Given the description of an element on the screen output the (x, y) to click on. 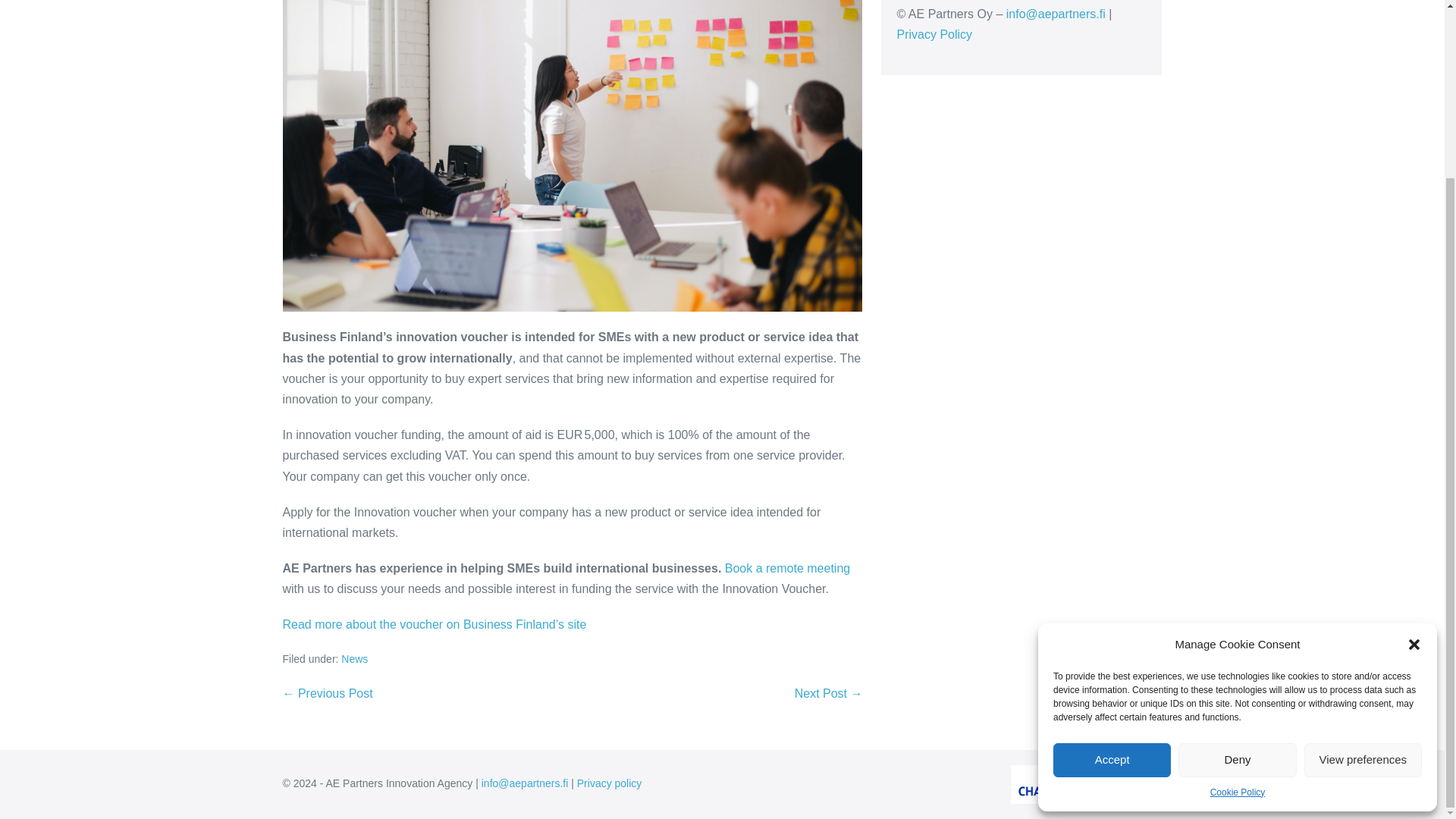
View preferences (1363, 543)
Accept (1111, 543)
News (354, 658)
Cookie Policy (1237, 575)
Deny (1236, 543)
Privacy Policy (934, 33)
Book a remote meeting (787, 567)
